Given the description of an element on the screen output the (x, y) to click on. 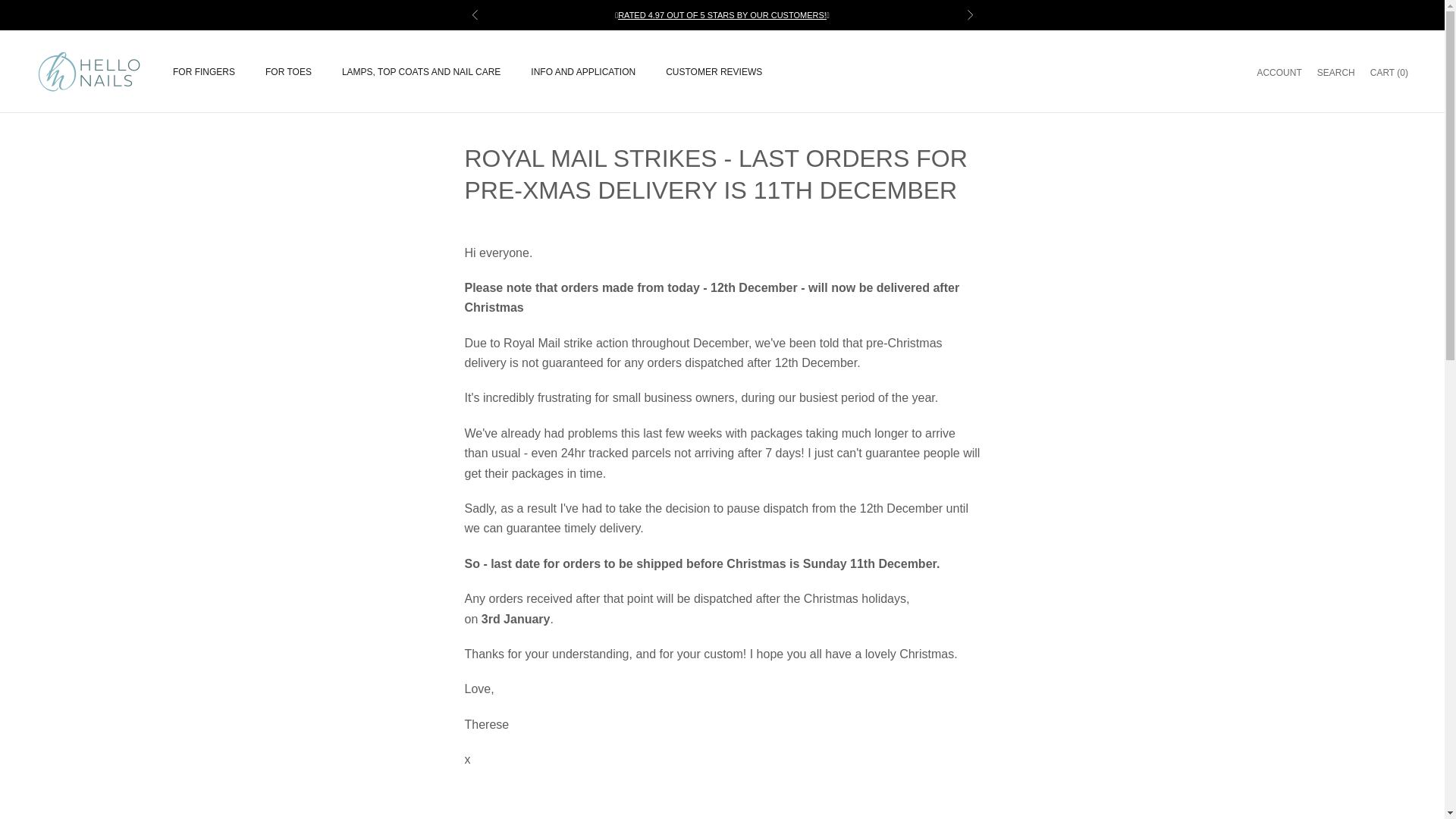
LAMPS, TOP COATS AND NAIL CARE (421, 71)
CUSTOMER REVIEWS (713, 71)
RATED 4.97 OUT OF 5 STARS BY OUR CUSTOMERS! (722, 14)
Customer Reviews (1336, 71)
Hello Nails (722, 14)
